Given the description of an element on the screen output the (x, y) to click on. 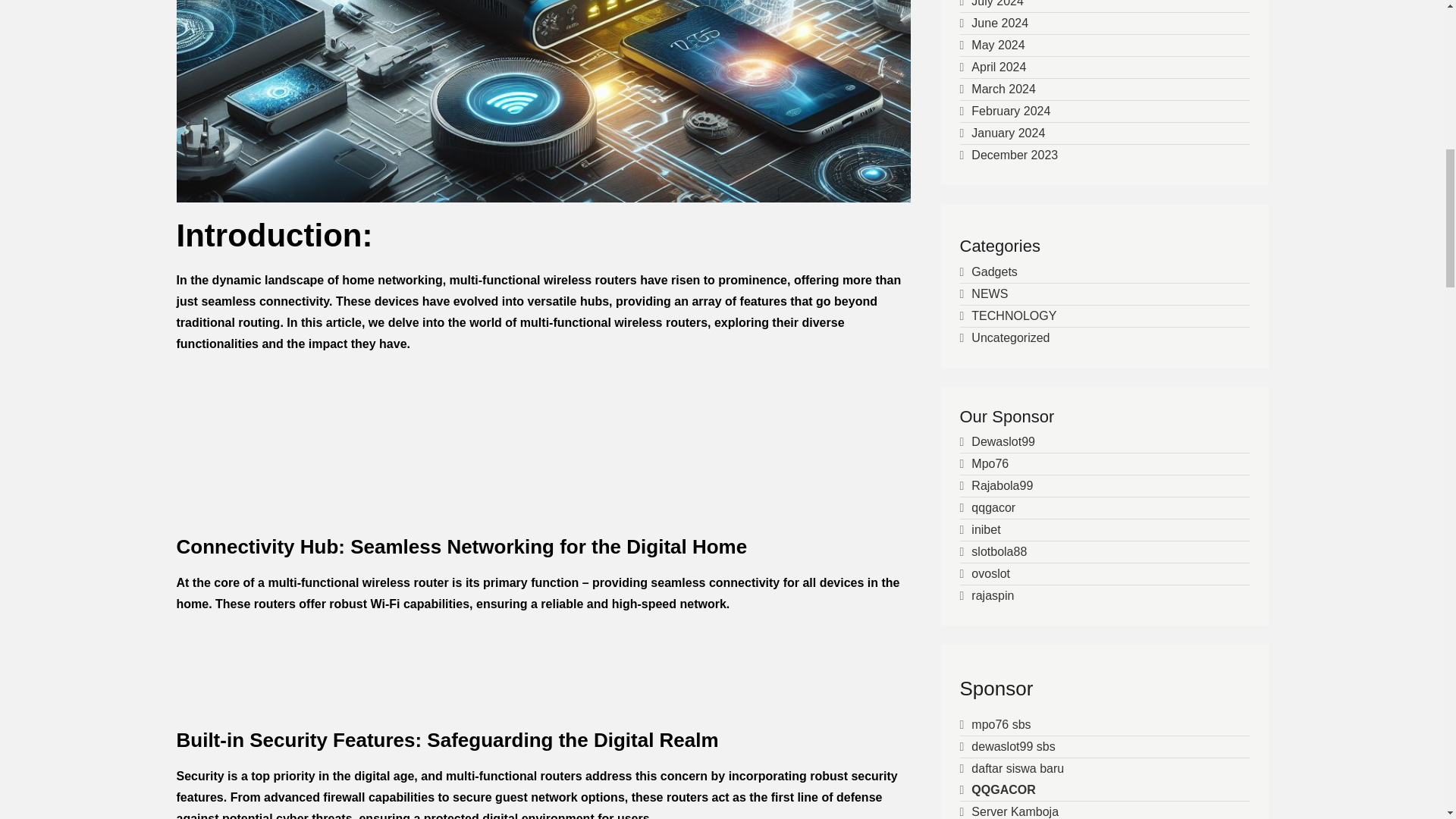
NEWS (989, 293)
June 2024 (999, 22)
July 2024 (997, 3)
December 2023 (1014, 154)
May 2024 (998, 44)
April 2024 (998, 66)
January 2024 (1008, 132)
February 2024 (1010, 110)
March 2024 (1003, 88)
TECHNOLOGY (1014, 315)
